Given the description of an element on the screen output the (x, y) to click on. 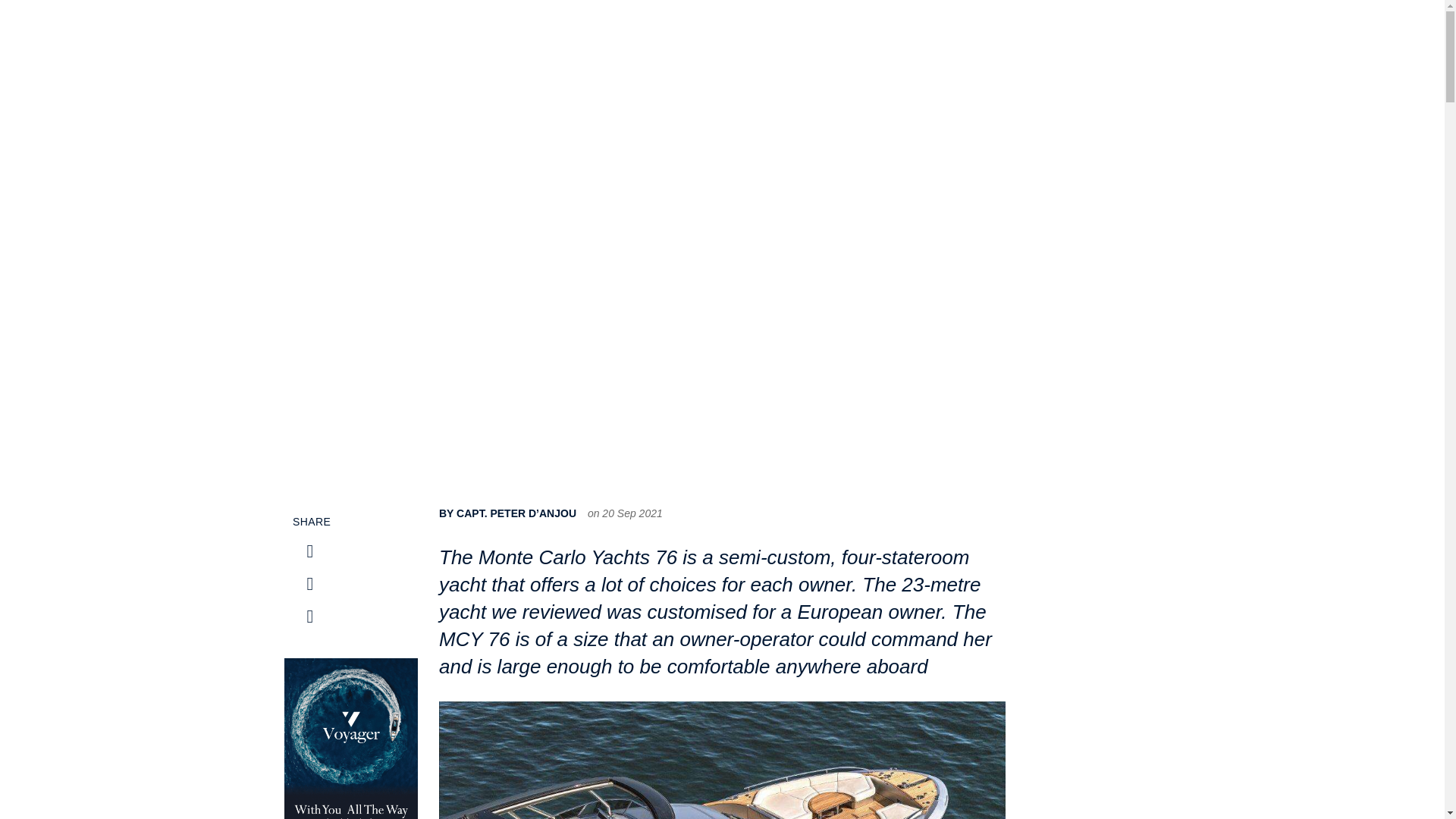
Instagram (309, 583)
Toys (1018, 50)
Directory (1118, 50)
People (842, 50)
Events (1062, 50)
SUBSCRIBE (1277, 49)
Blue Planet (961, 50)
Contact (1175, 50)
Industry (789, 50)
Tweet this ! (309, 550)
